Given the description of an element on the screen output the (x, y) to click on. 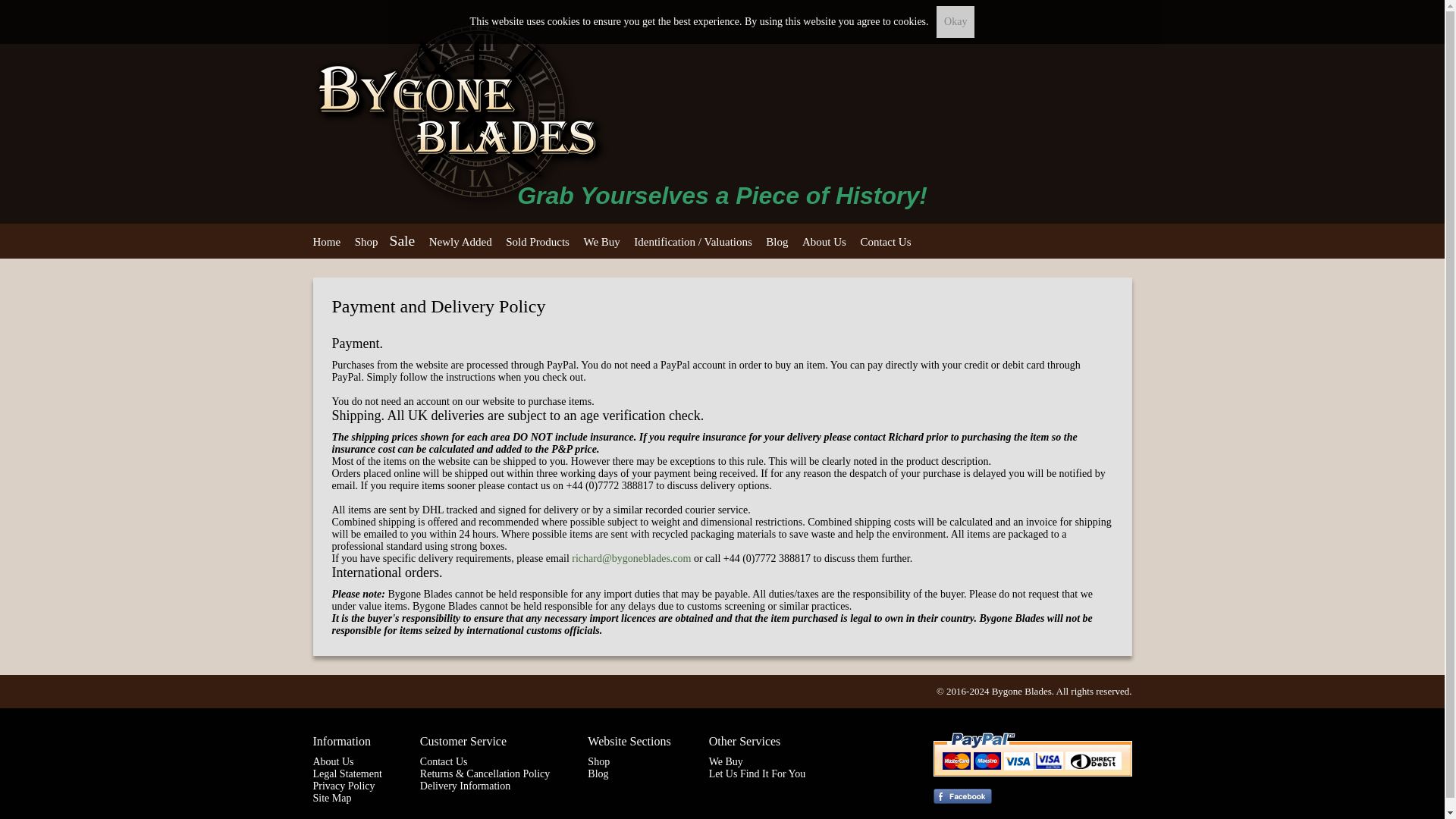
Okay (955, 21)
Blog (598, 773)
Site Map (331, 797)
We Buy (725, 761)
About Us (823, 241)
Newly Added (460, 241)
About Us (333, 761)
Okay (955, 21)
We Buy (601, 241)
Home (326, 241)
